Given the description of an element on the screen output the (x, y) to click on. 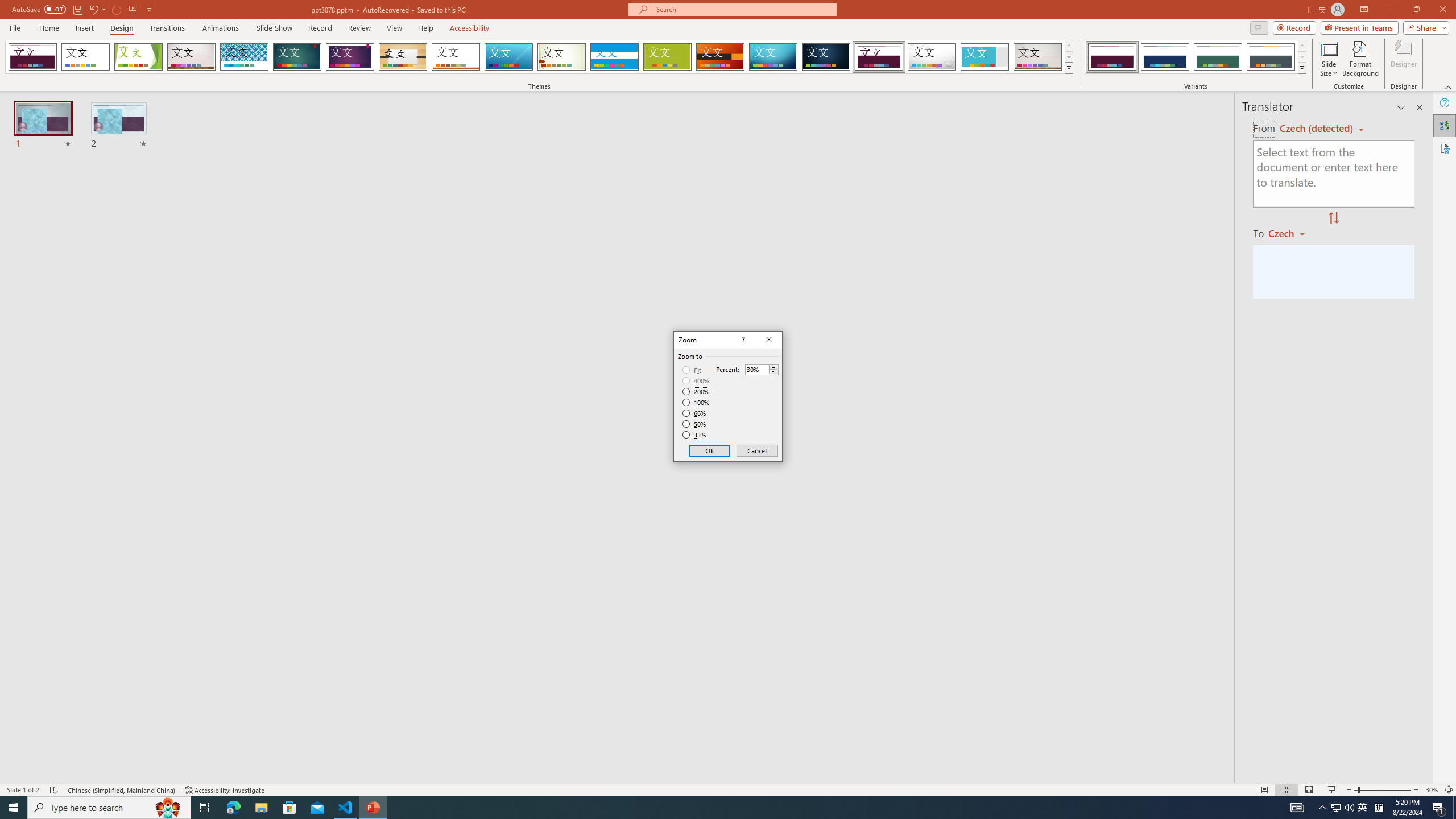
Dividend Variant 4 (1270, 56)
Percent (756, 369)
Fit (691, 370)
400% (696, 380)
Dividend Variant 1 (1112, 56)
